Given the description of an element on the screen output the (x, y) to click on. 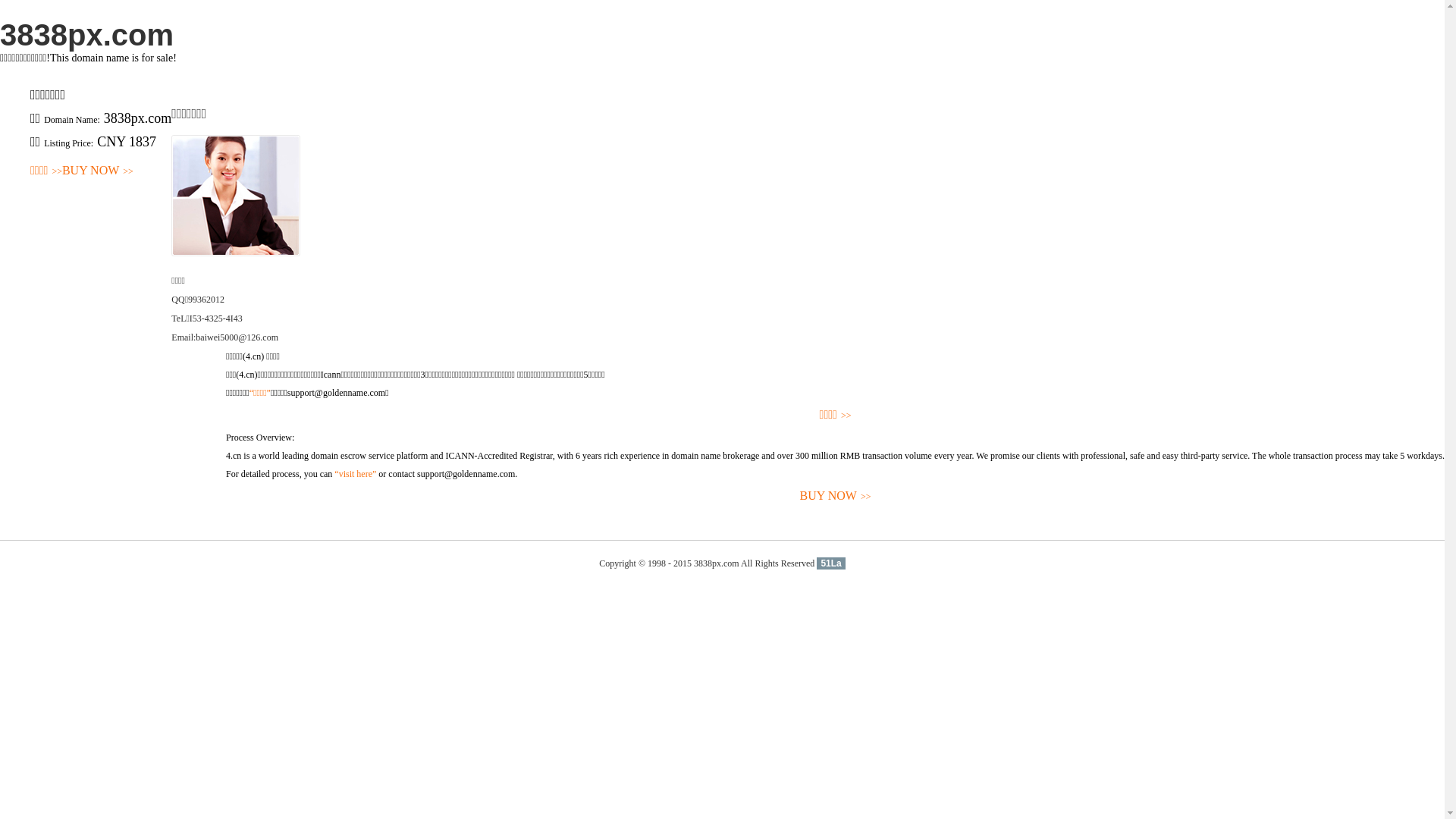
BUY NOW>> Element type: text (834, 496)
BUY NOW>> Element type: text (97, 170)
51La Element type: text (830, 563)
